Given the description of an element on the screen output the (x, y) to click on. 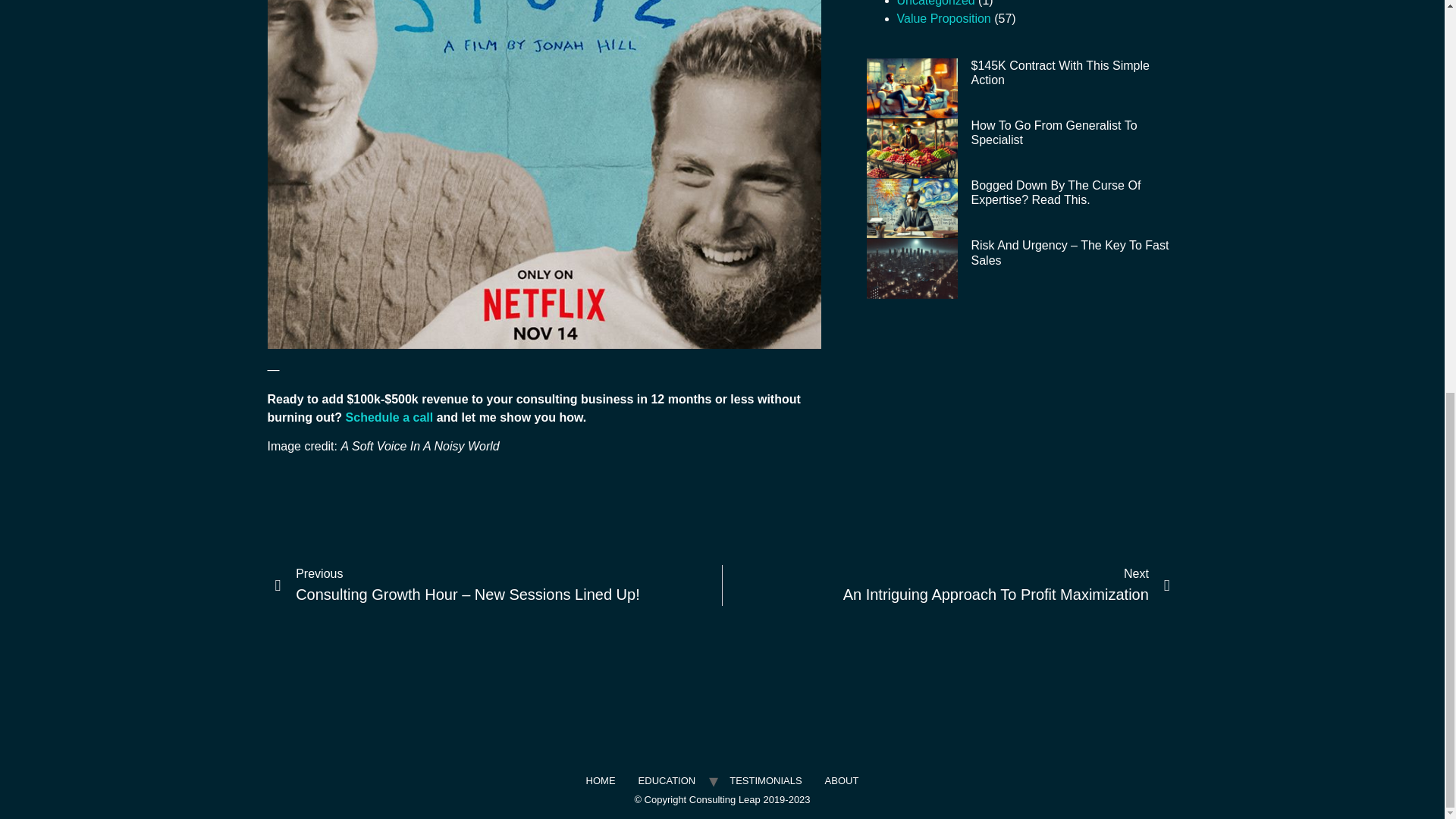
Uncategorized (935, 3)
Schedule a call (389, 417)
How To Go From Generalist To Specialist (1054, 132)
Value Proposition (943, 18)
